Given the description of an element on the screen output the (x, y) to click on. 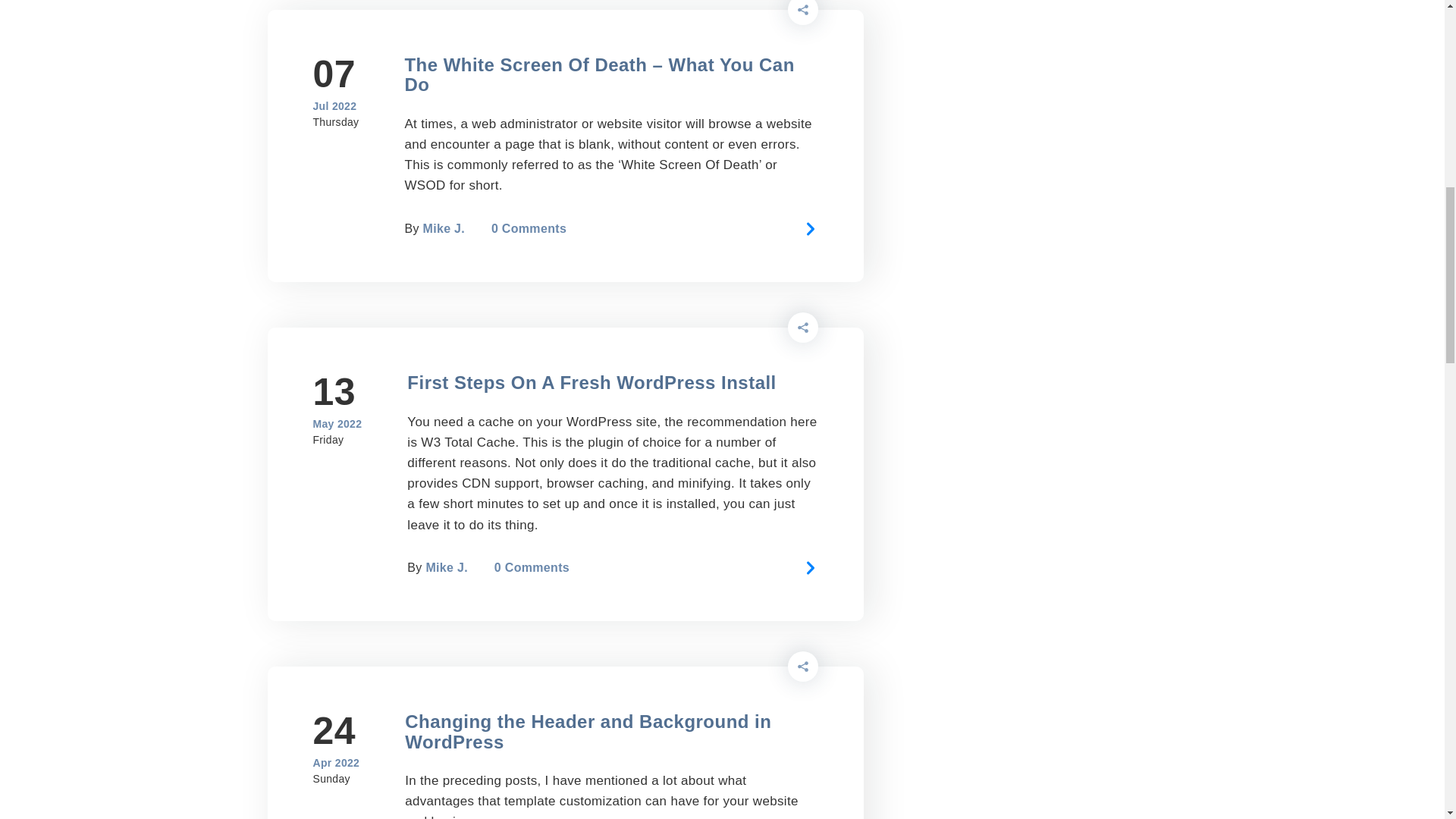
Mike J. (444, 228)
0 Comments (529, 228)
07 (335, 74)
0 Comments (532, 567)
First Steps On A Fresh WordPress Install (591, 382)
24 (336, 730)
Mike J. (446, 567)
13 (337, 392)
Changing the Header and Background in WordPress (587, 731)
